Given the description of an element on the screen output the (x, y) to click on. 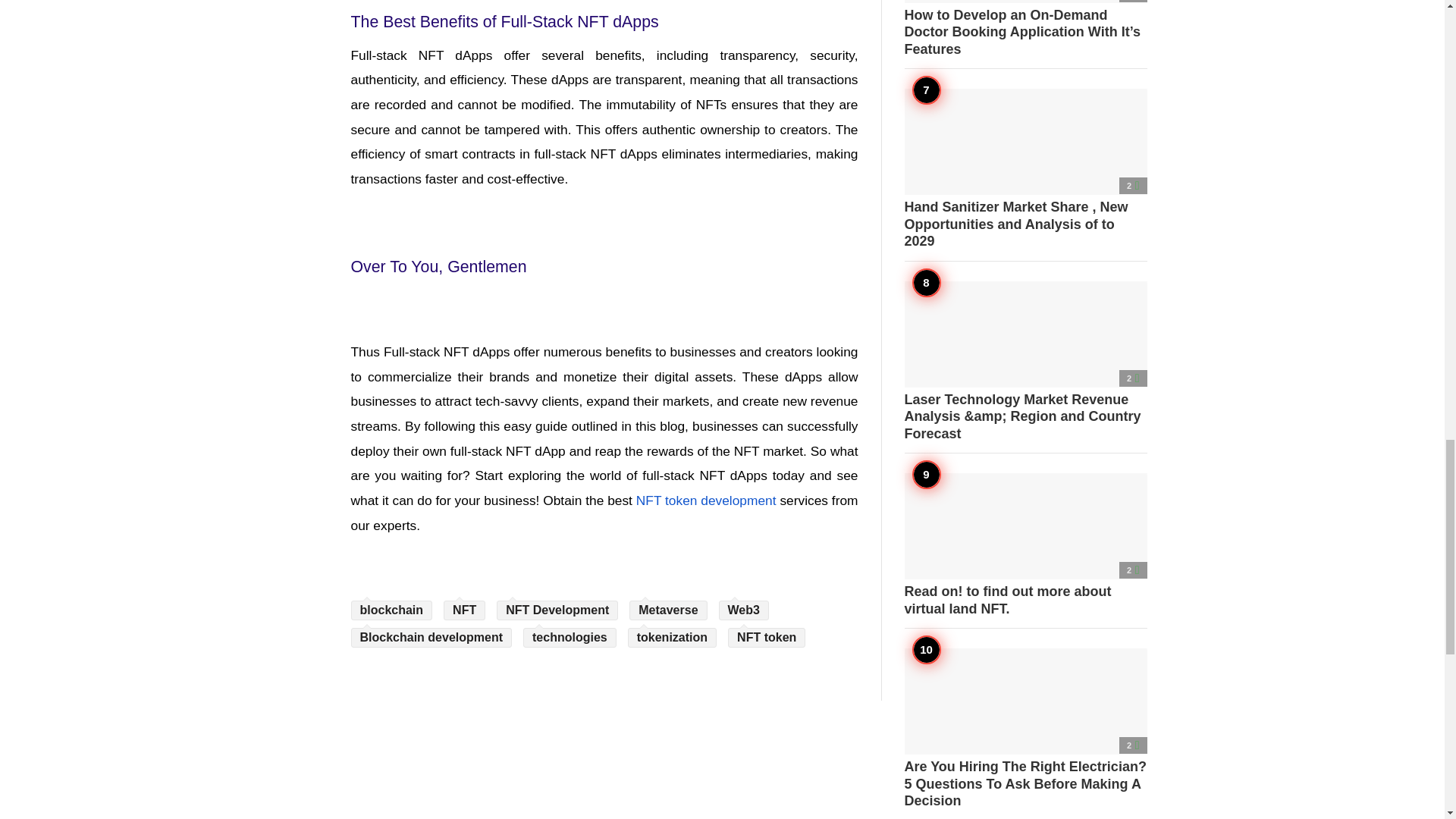
Read on! to find out more about virtual land NFT. (1025, 545)
